Given the description of an element on the screen output the (x, y) to click on. 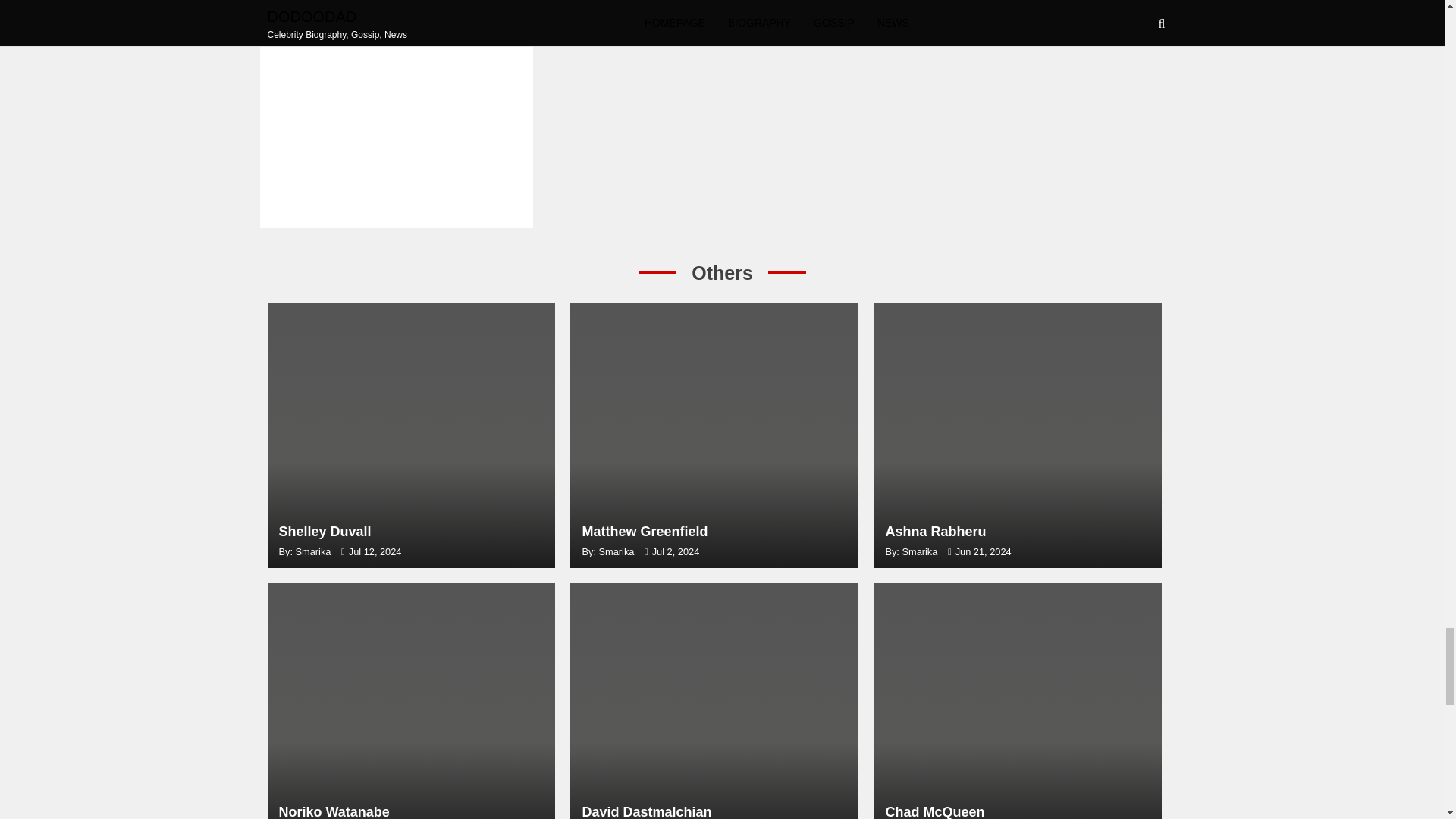
Advertisement (410, 435)
